Given the description of an element on the screen output the (x, y) to click on. 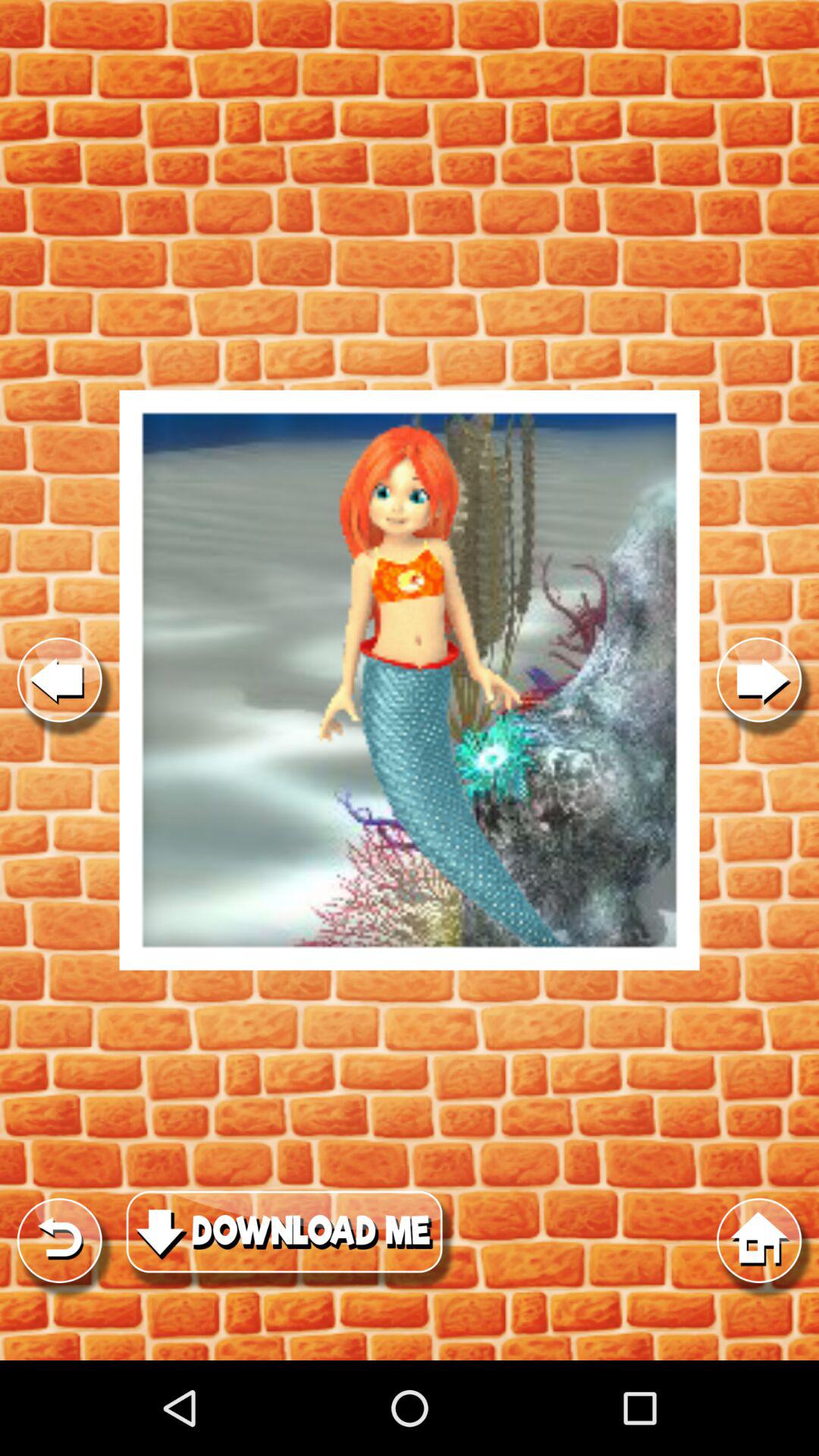
download me (409, 680)
